Given the description of an element on the screen output the (x, y) to click on. 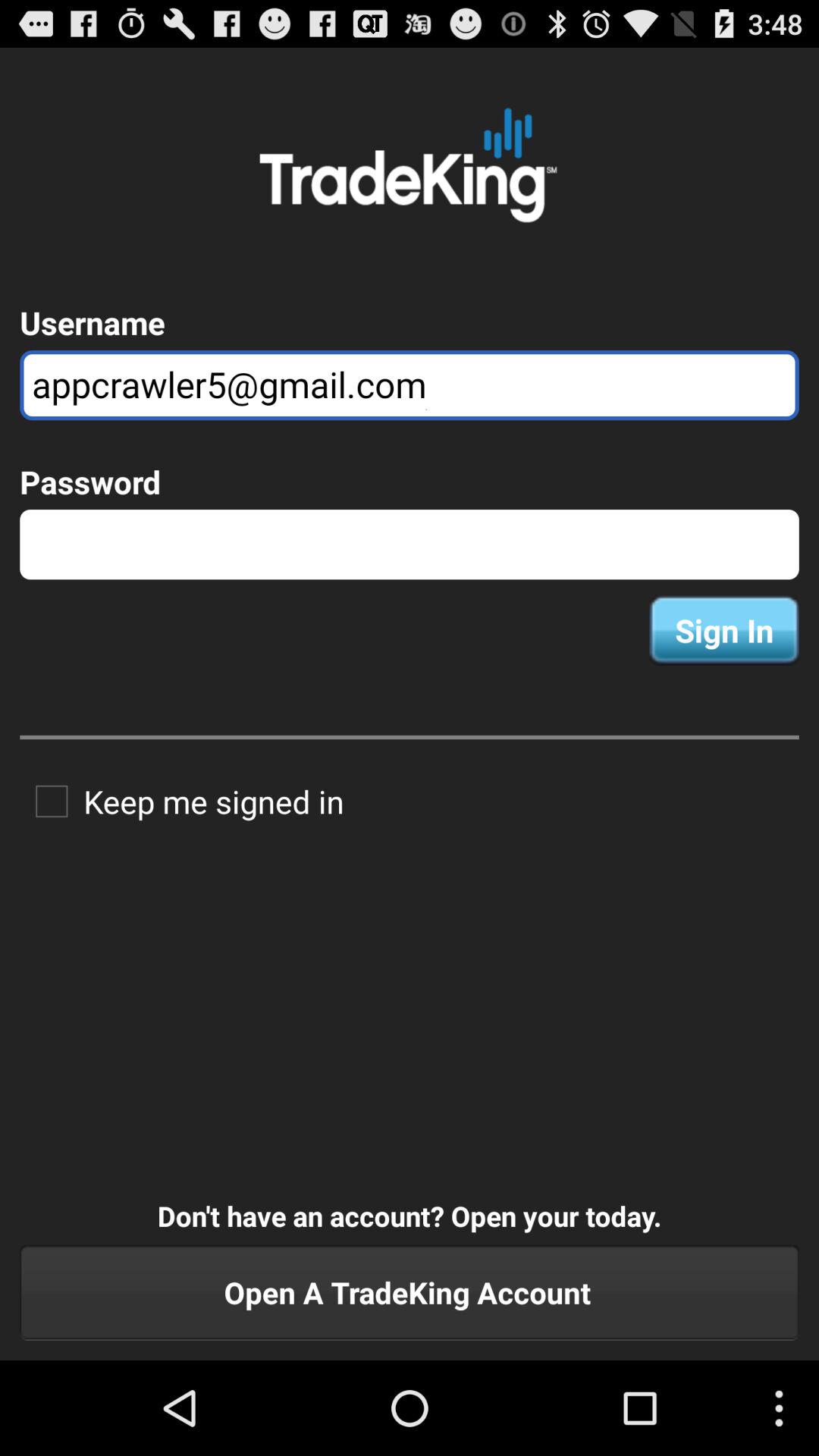
select the open a tradeking button (409, 1292)
